Given the description of an element on the screen output the (x, y) to click on. 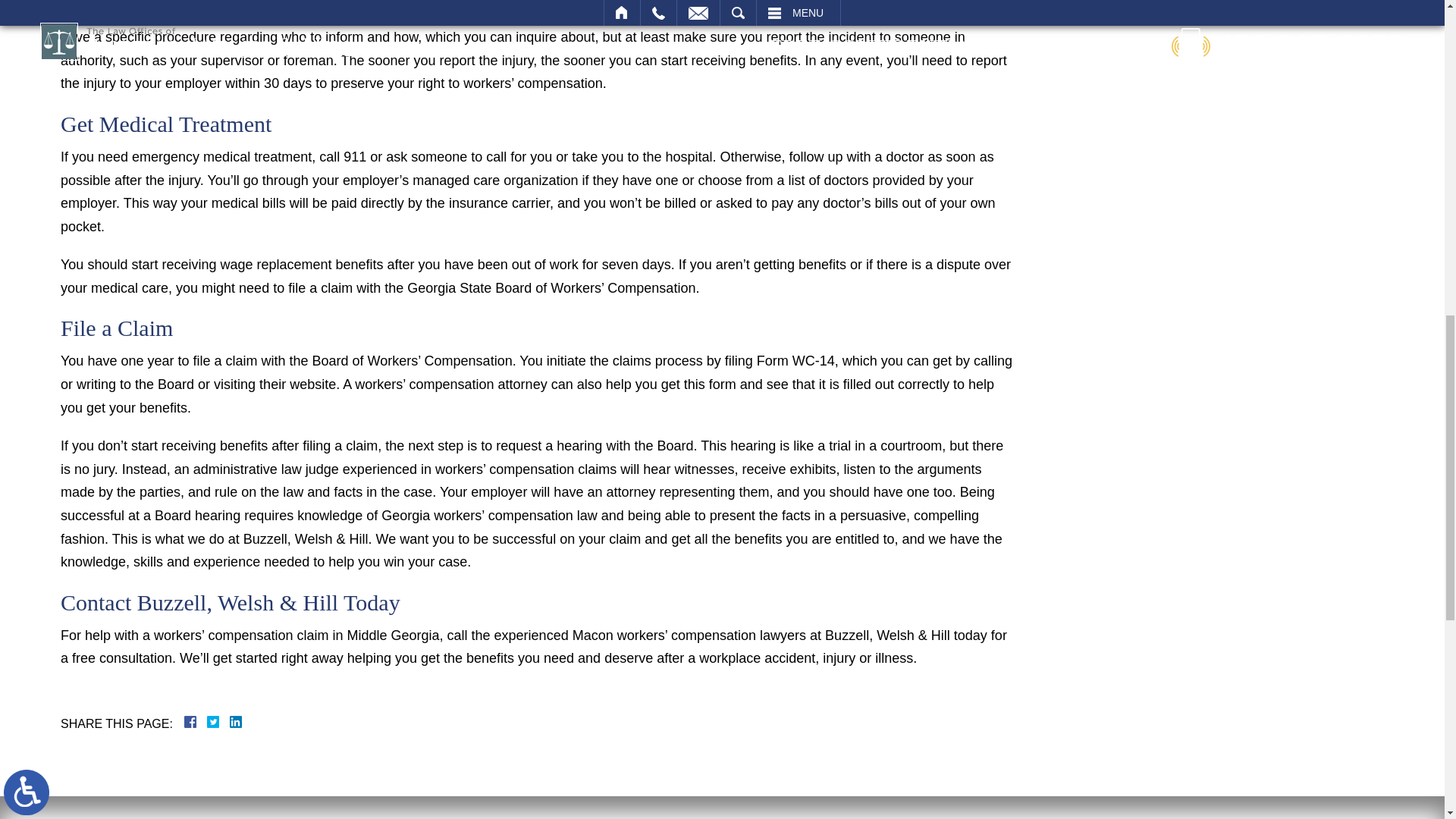
Twitter (219, 721)
LinkedIn (229, 721)
Facebook (208, 721)
